Given the description of an element on the screen output the (x, y) to click on. 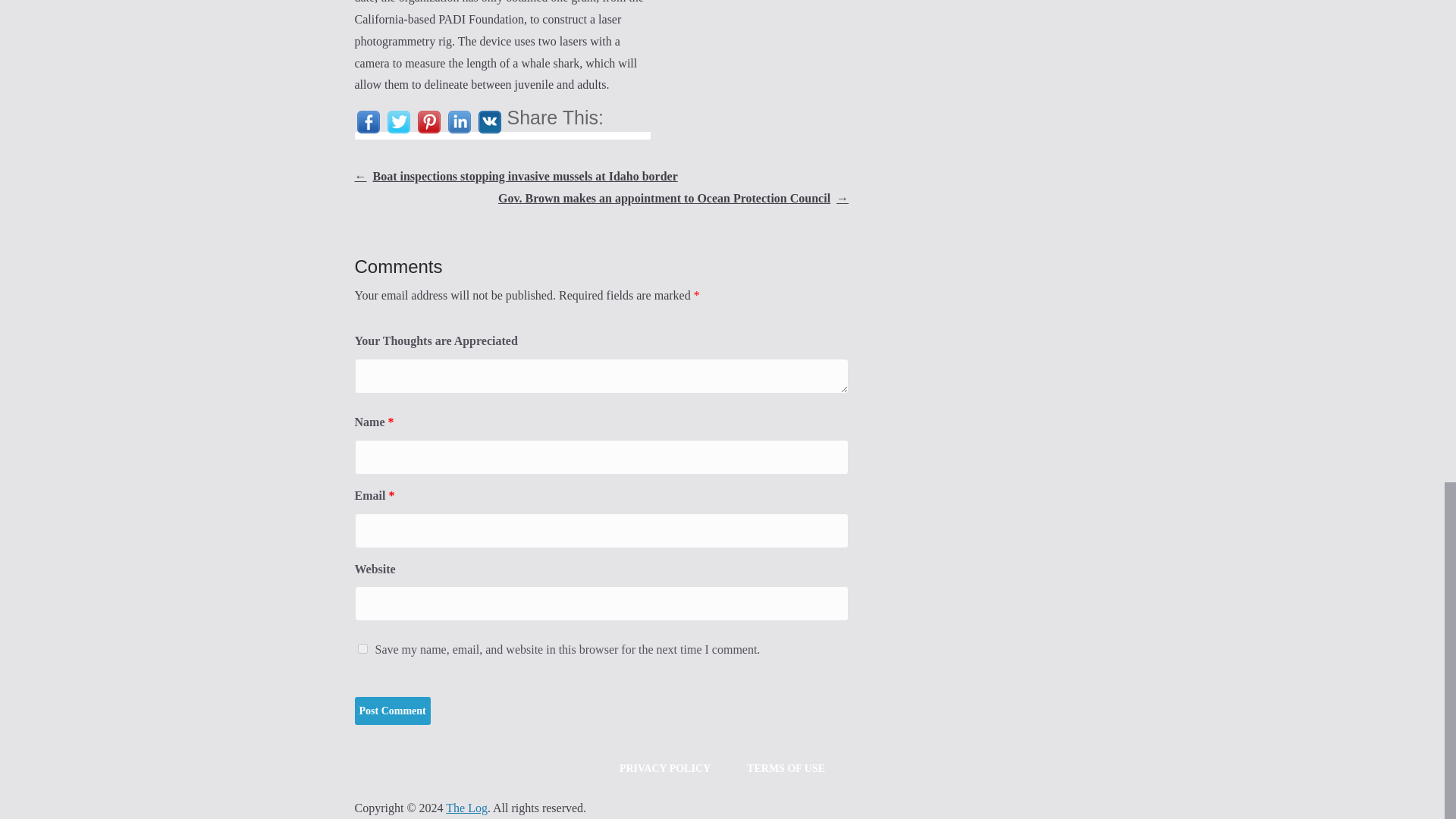
yes (363, 648)
Post Comment (392, 710)
The Log (466, 807)
